Given the description of an element on the screen output the (x, y) to click on. 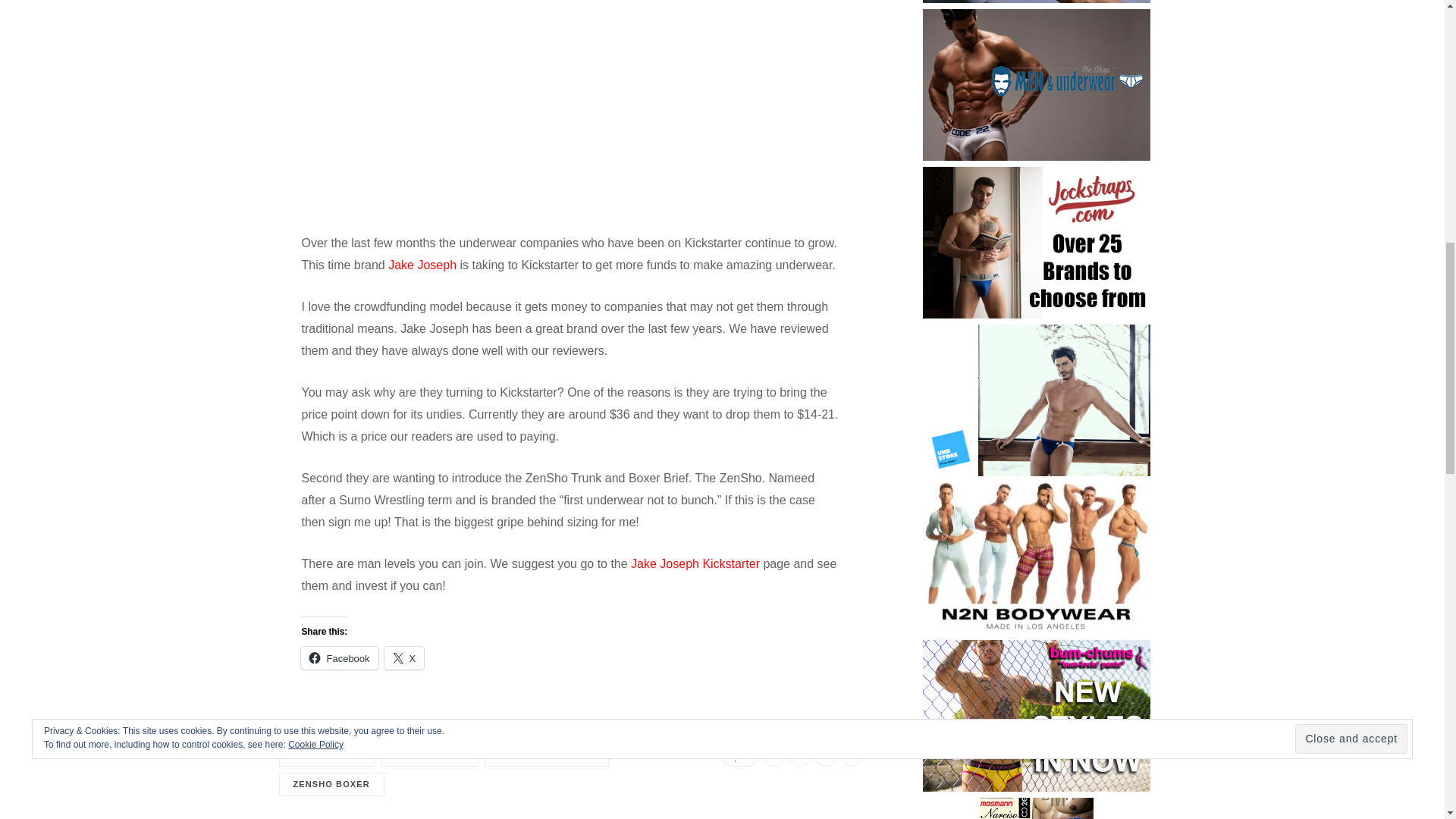
Share on Twitter (799, 754)
Email (851, 754)
Pinterest (825, 754)
Share on Facebook (774, 754)
Click to share on X (404, 658)
Click to share on Facebook (339, 658)
